Given the description of an element on the screen output the (x, y) to click on. 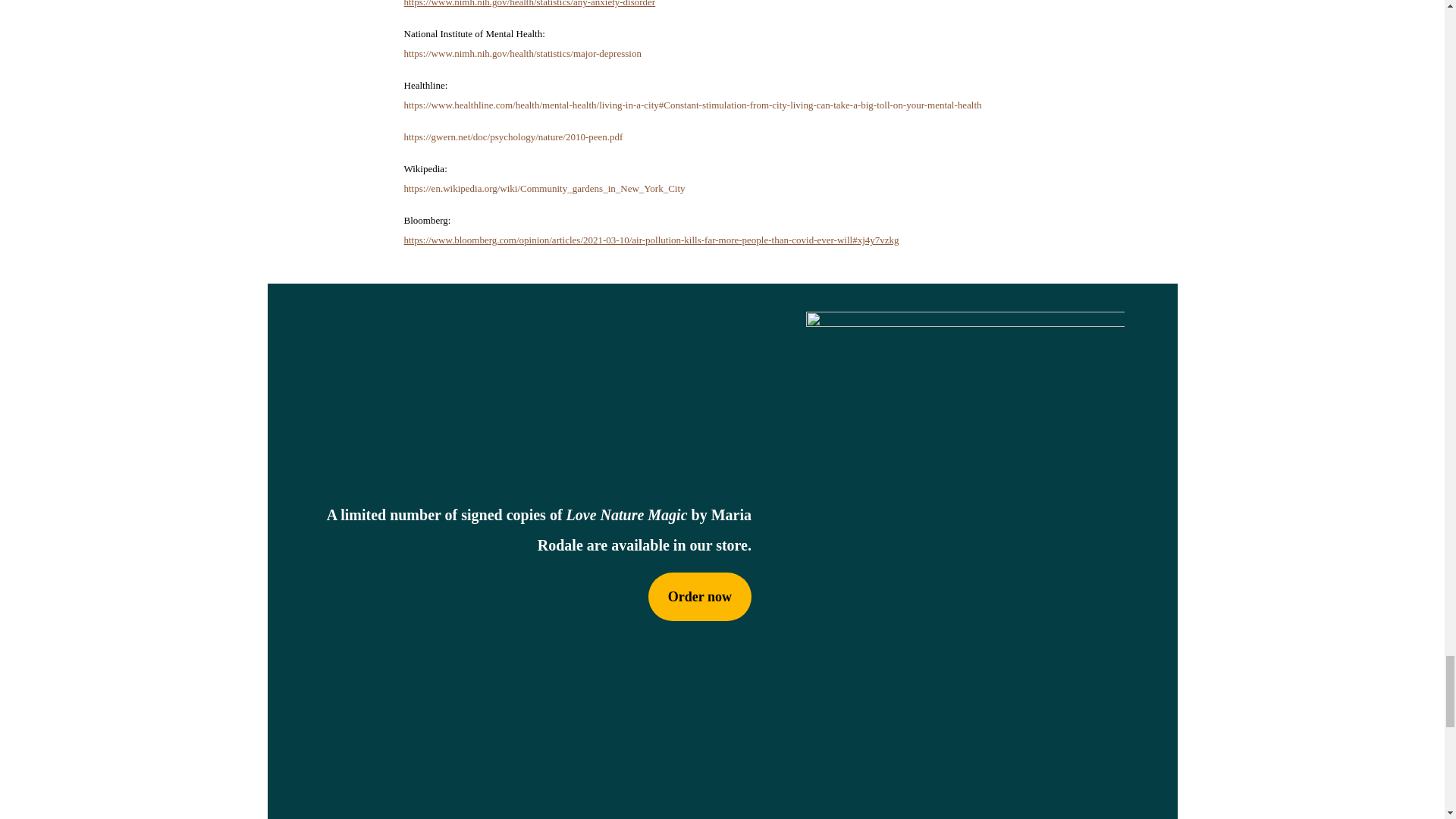
Order now (699, 596)
